Given the description of an element on the screen output the (x, y) to click on. 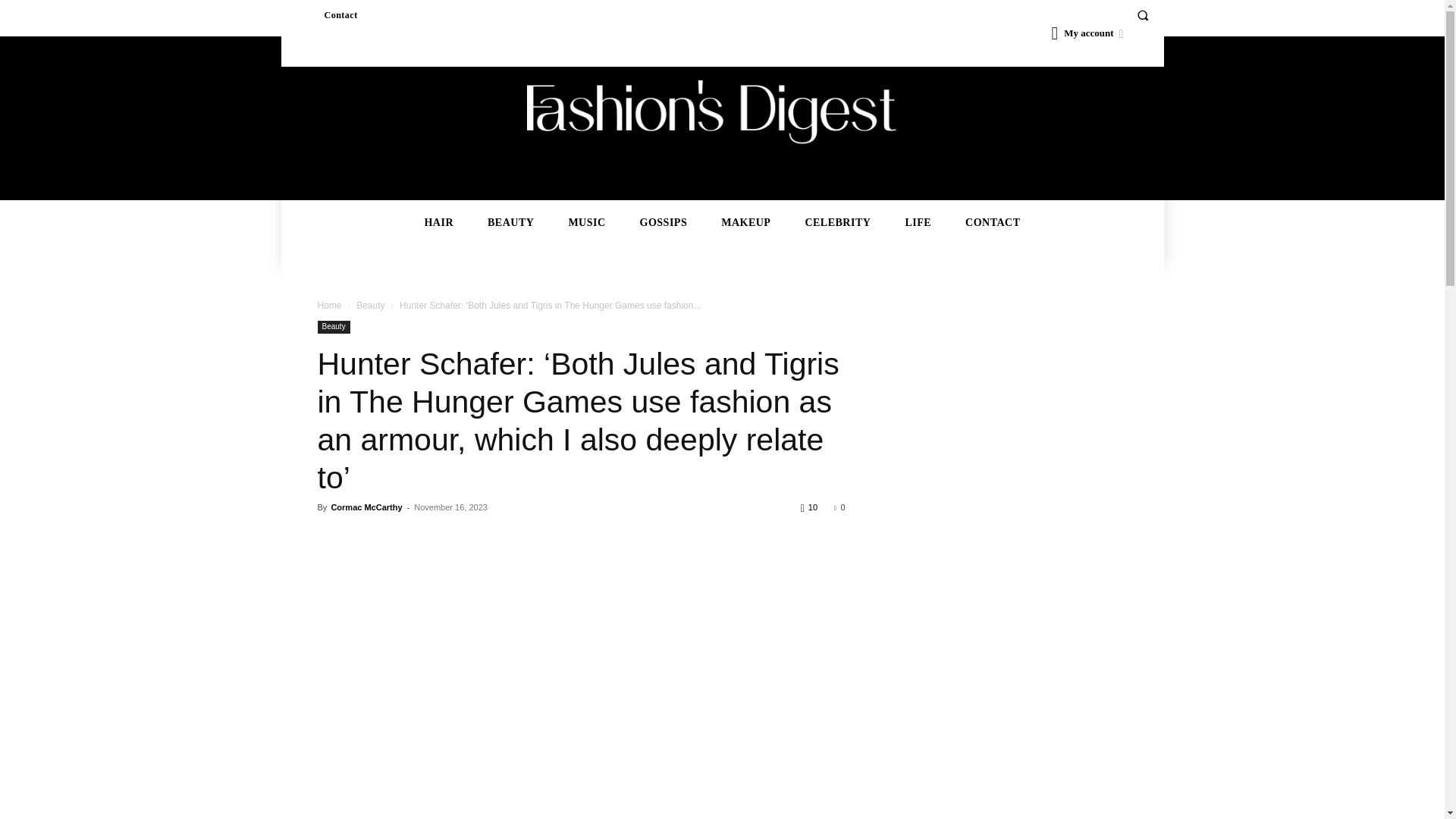
GOSSIPS (663, 222)
MAKEUP (745, 222)
MUSIC (585, 222)
LIFE (917, 222)
HAIR (438, 222)
CELEBRITY (837, 222)
BEAUTY (510, 222)
CONTACT (991, 222)
Contact (340, 15)
View all posts in Beauty (370, 305)
